Given the description of an element on the screen output the (x, y) to click on. 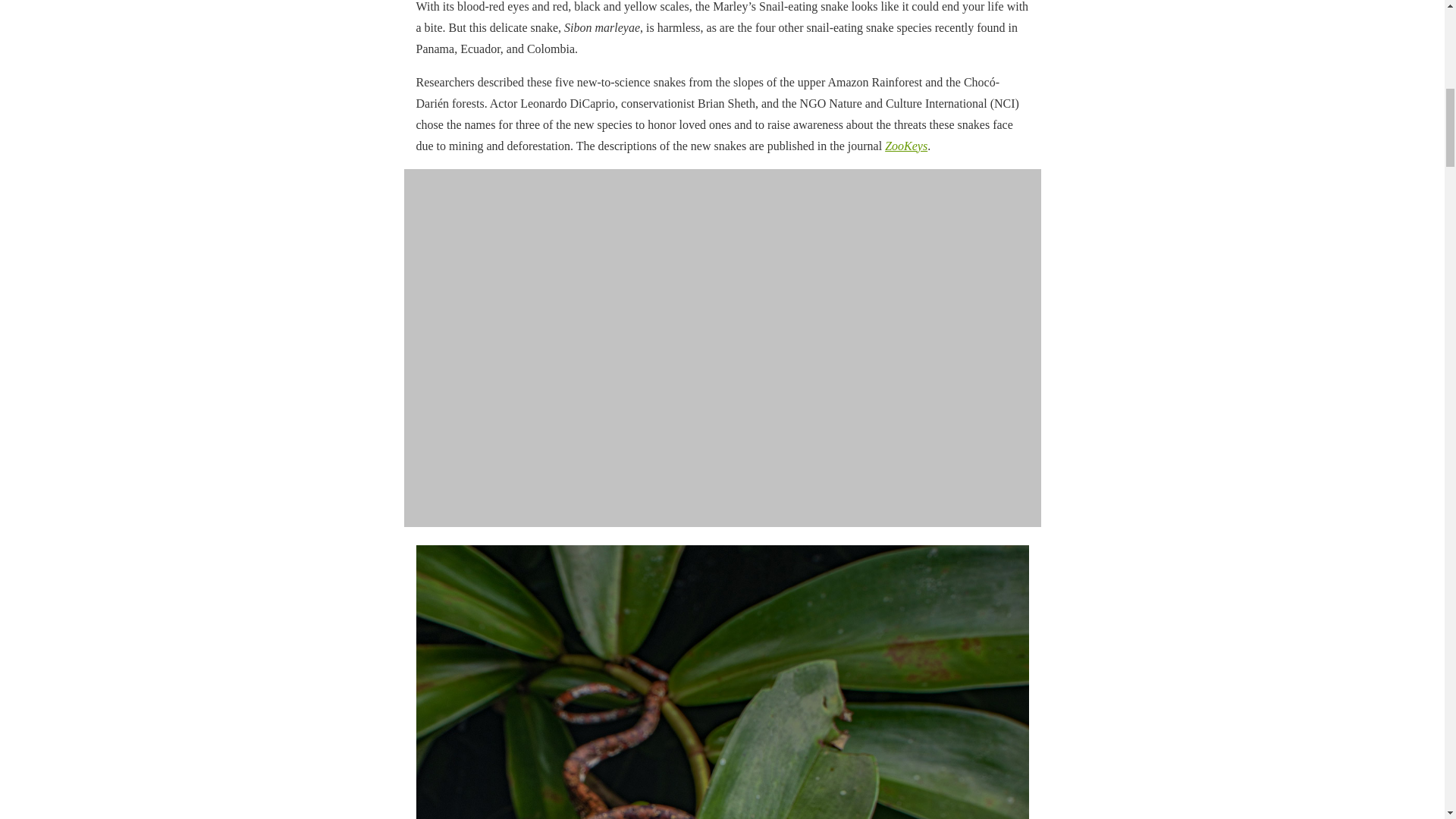
ZooKeys (906, 145)
